Given the description of an element on the screen output the (x, y) to click on. 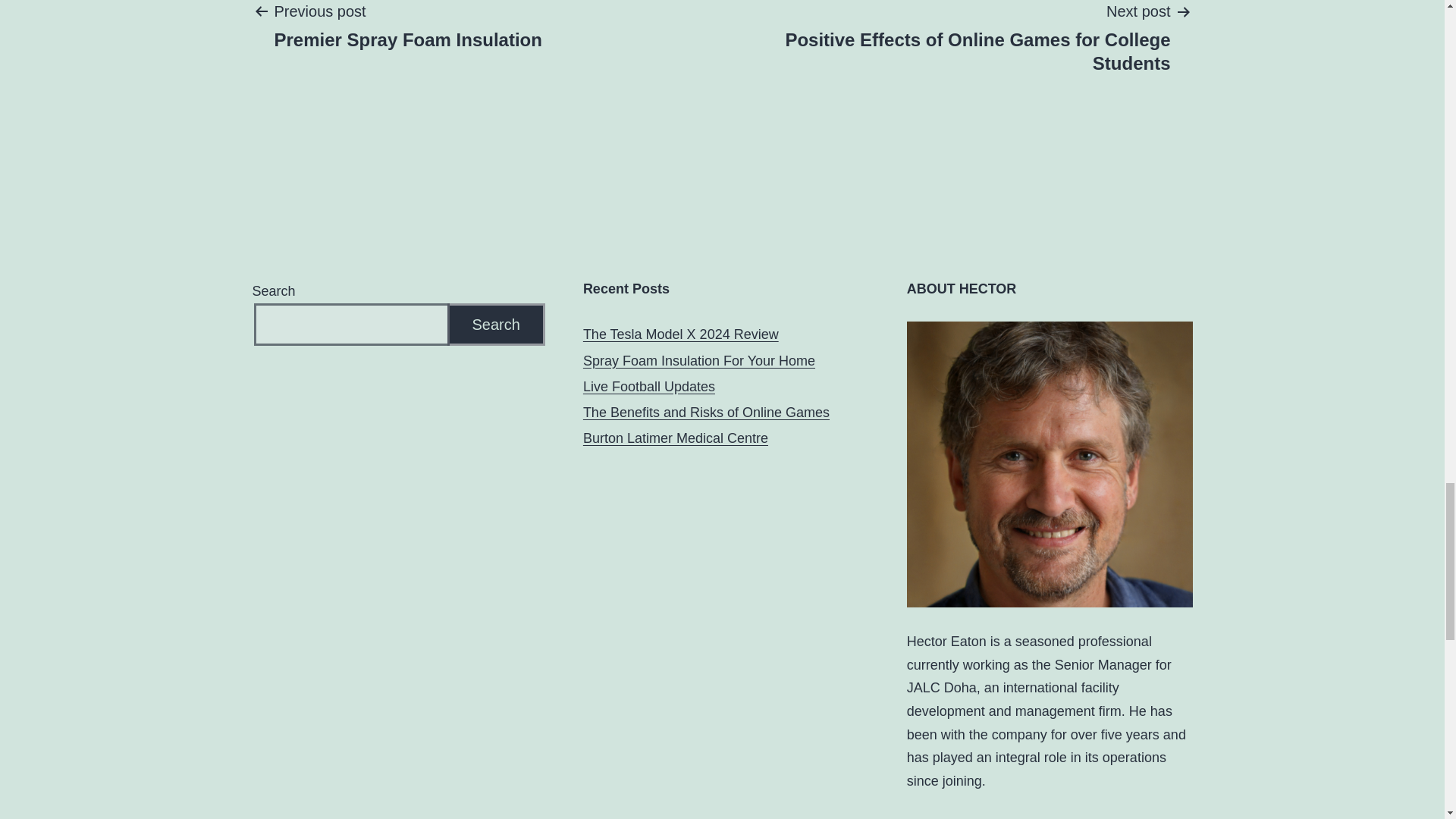
Search (495, 324)
Spray Foam Insulation For Your Home (699, 361)
Live Football Updates (648, 386)
Burton Latimer Medical Centre (675, 438)
The Benefits and Risks of Online Games (706, 412)
The Tesla Model X 2024 Review (407, 25)
